Given the description of an element on the screen output the (x, y) to click on. 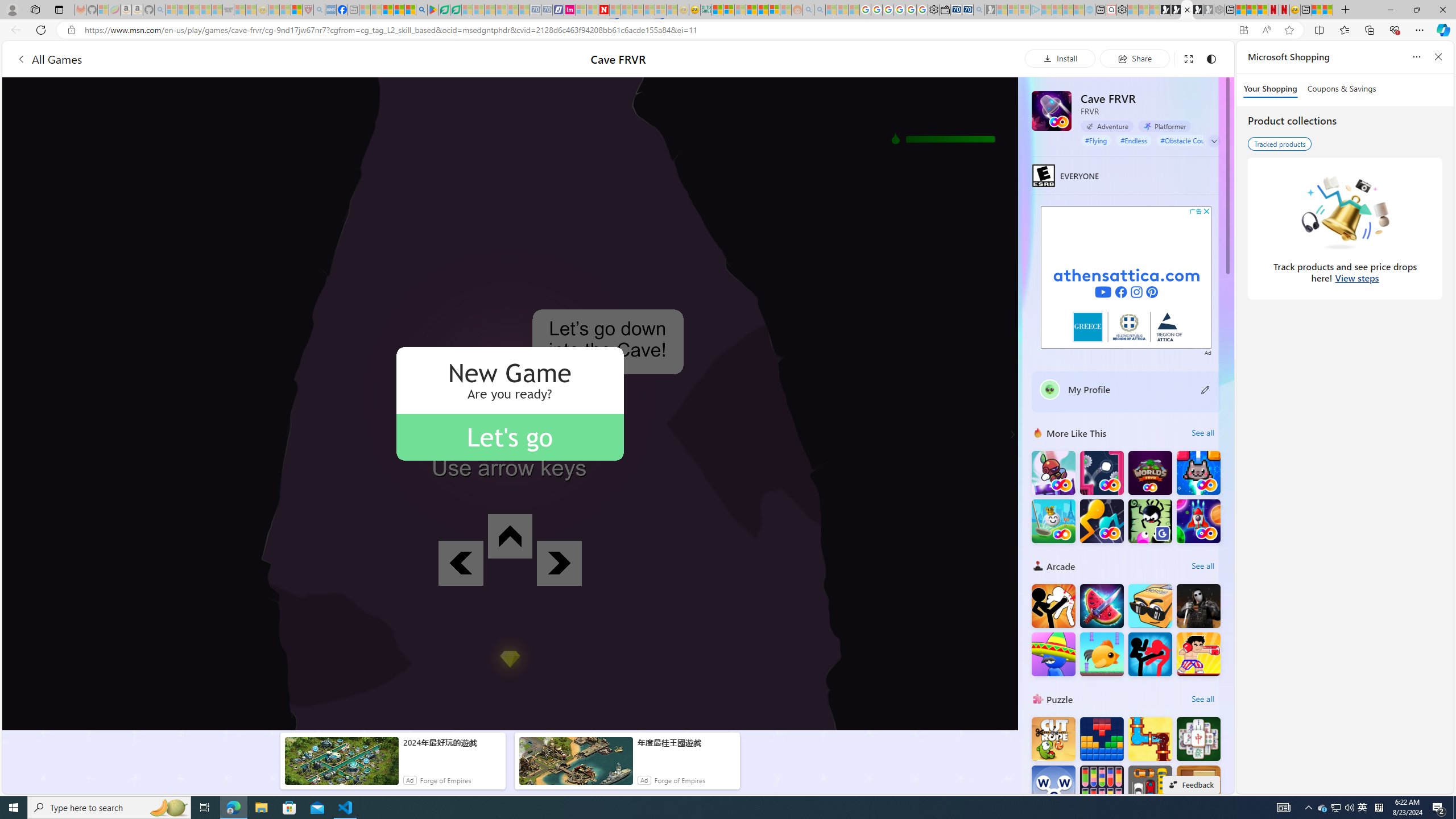
google - Search (421, 9)
Fruit Chopper (1101, 605)
MSNBC - MSN - Sleeping (364, 9)
NCL Adult Asthma Inhaler Choice Guideline - Sleeping (330, 9)
Trusted Community Engagement and Contributions | Guidelines (615, 9)
Robert H. Shmerling, MD - Harvard Health - Sleeping (307, 9)
Home | Sky Blue Bikes - Sky Blue Bikes - Sleeping (1088, 9)
Wally Jump FRVR (1101, 472)
Boing FRVR (1053, 472)
Terms of Use Agreement (443, 9)
